Given the description of an element on the screen output the (x, y) to click on. 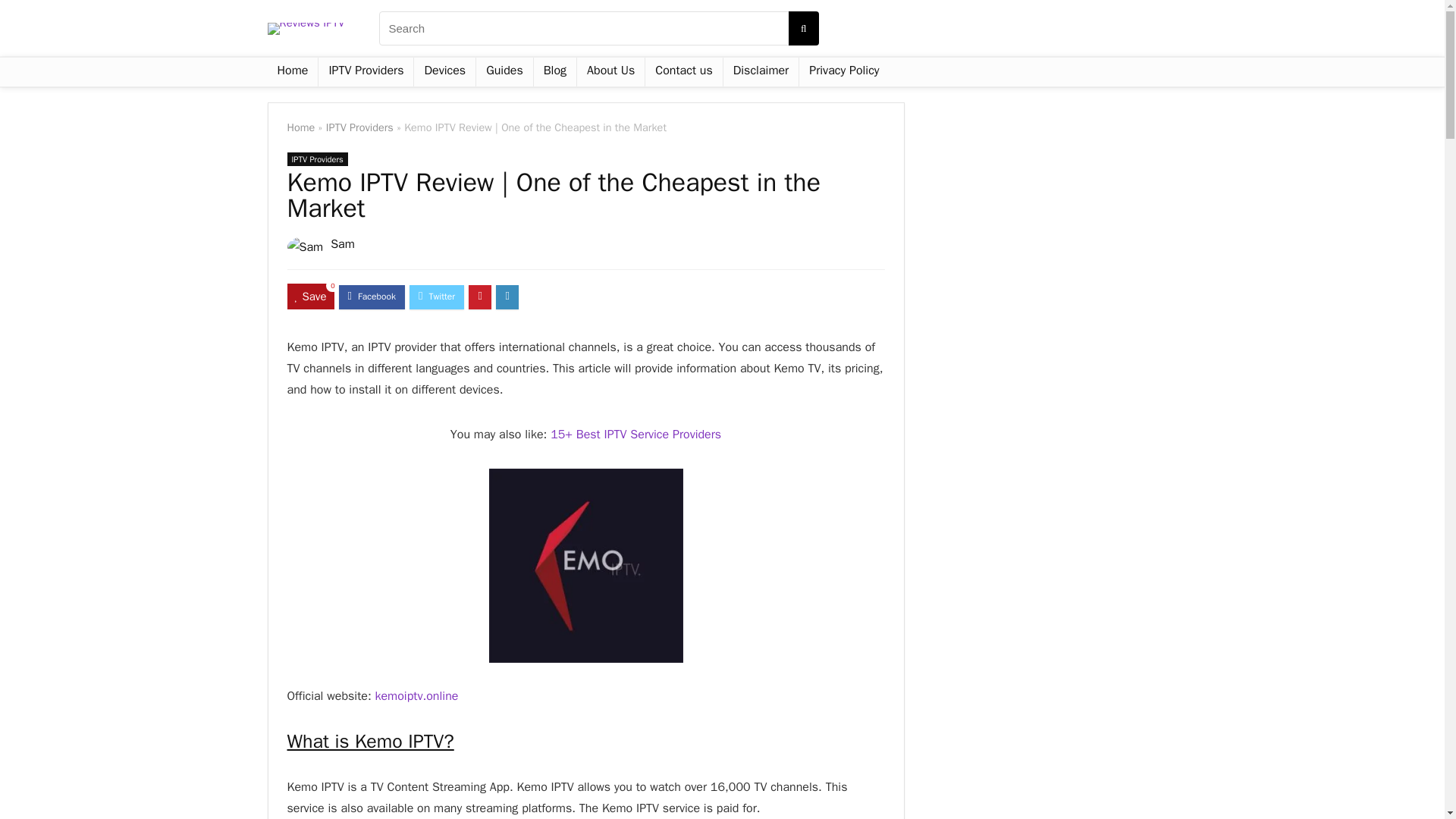
Devices (444, 71)
IPTV Providers (365, 71)
About Us (610, 71)
Privacy Policy (843, 71)
IPTV Providers (359, 127)
Guides (504, 71)
Disclaimer (760, 71)
View all posts in IPTV Providers (316, 159)
Home (300, 127)
Contact us (683, 71)
